Given the description of an element on the screen output the (x, y) to click on. 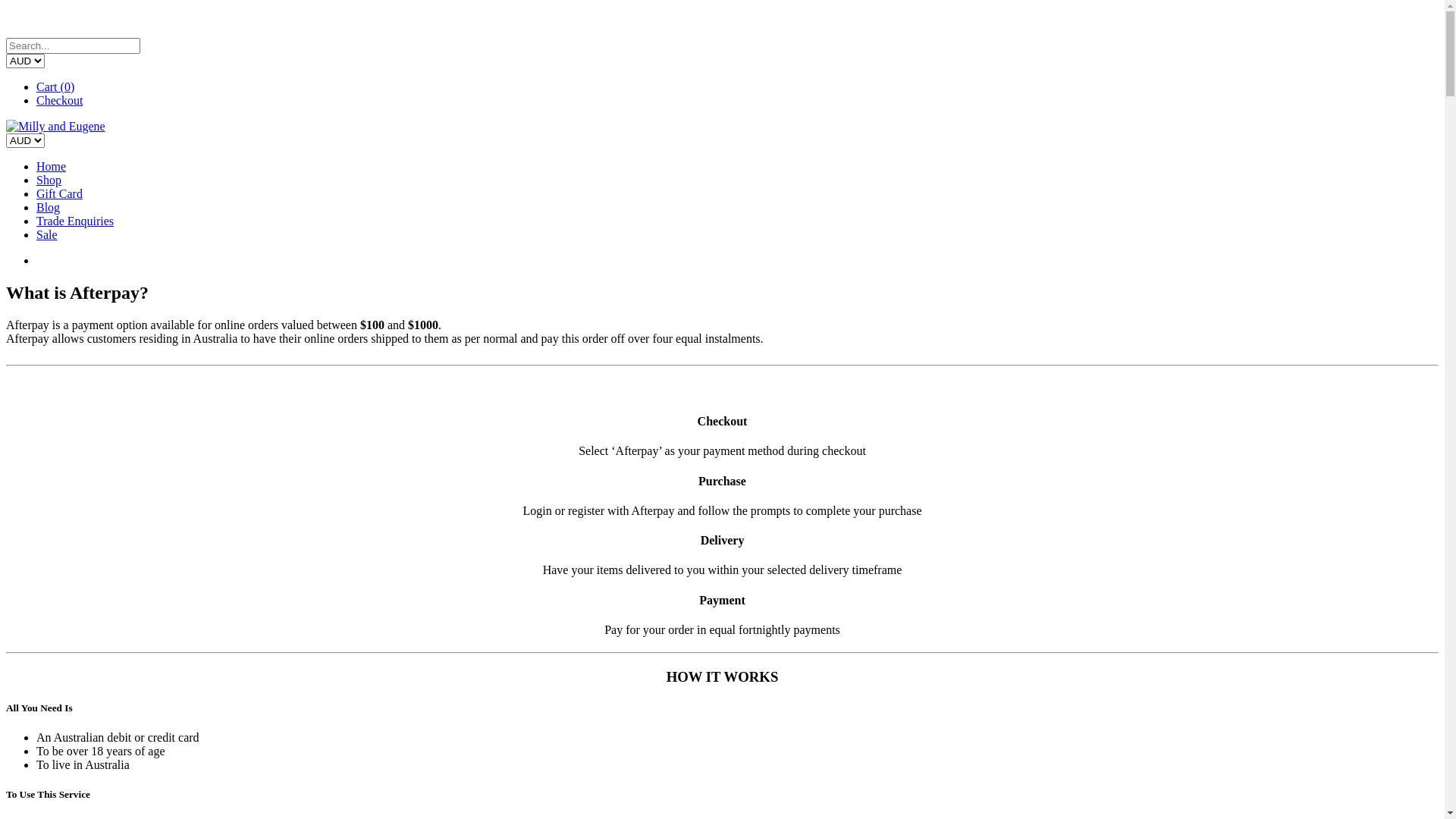
Checkout Element type: text (59, 100)
Shop Element type: text (48, 179)
Gift Card Element type: text (59, 193)
Milly and Eugene Element type: hover (55, 125)
Blog Element type: text (47, 206)
Trade Enquiries Element type: text (74, 220)
Sale Element type: text (46, 234)
Home Element type: text (50, 166)
Cart (0) Element type: text (55, 86)
